Given the description of an element on the screen output the (x, y) to click on. 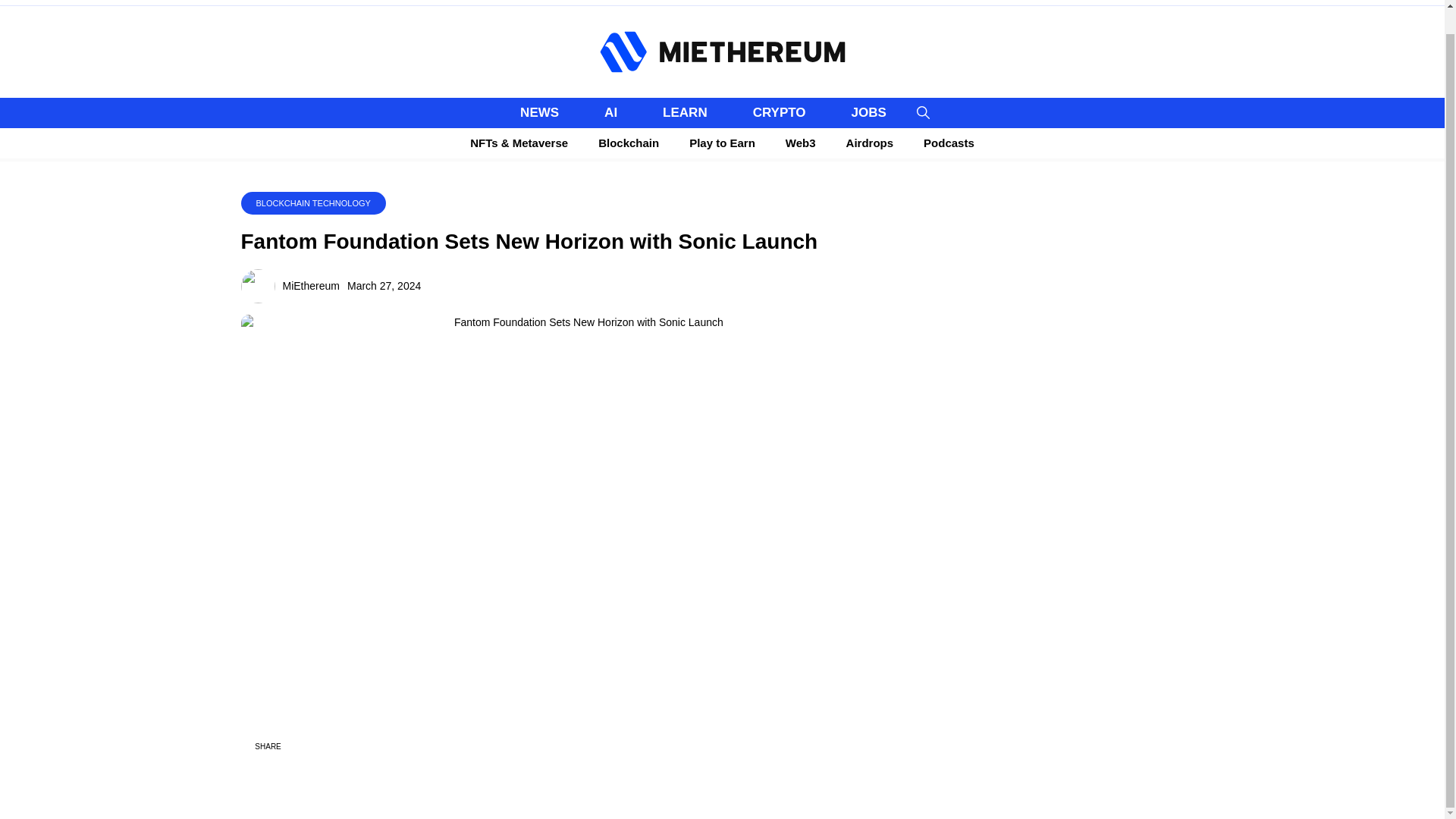
Web3 (800, 142)
AI (610, 112)
LEARN (684, 112)
Podcasts (949, 142)
BLOCKCHAIN TECHNOLOGY (313, 203)
CRYPTO (779, 112)
March 27, 2024 (383, 285)
Play to Earn (722, 142)
JOBS (868, 112)
Airdrops (869, 142)
